Given the description of an element on the screen output the (x, y) to click on. 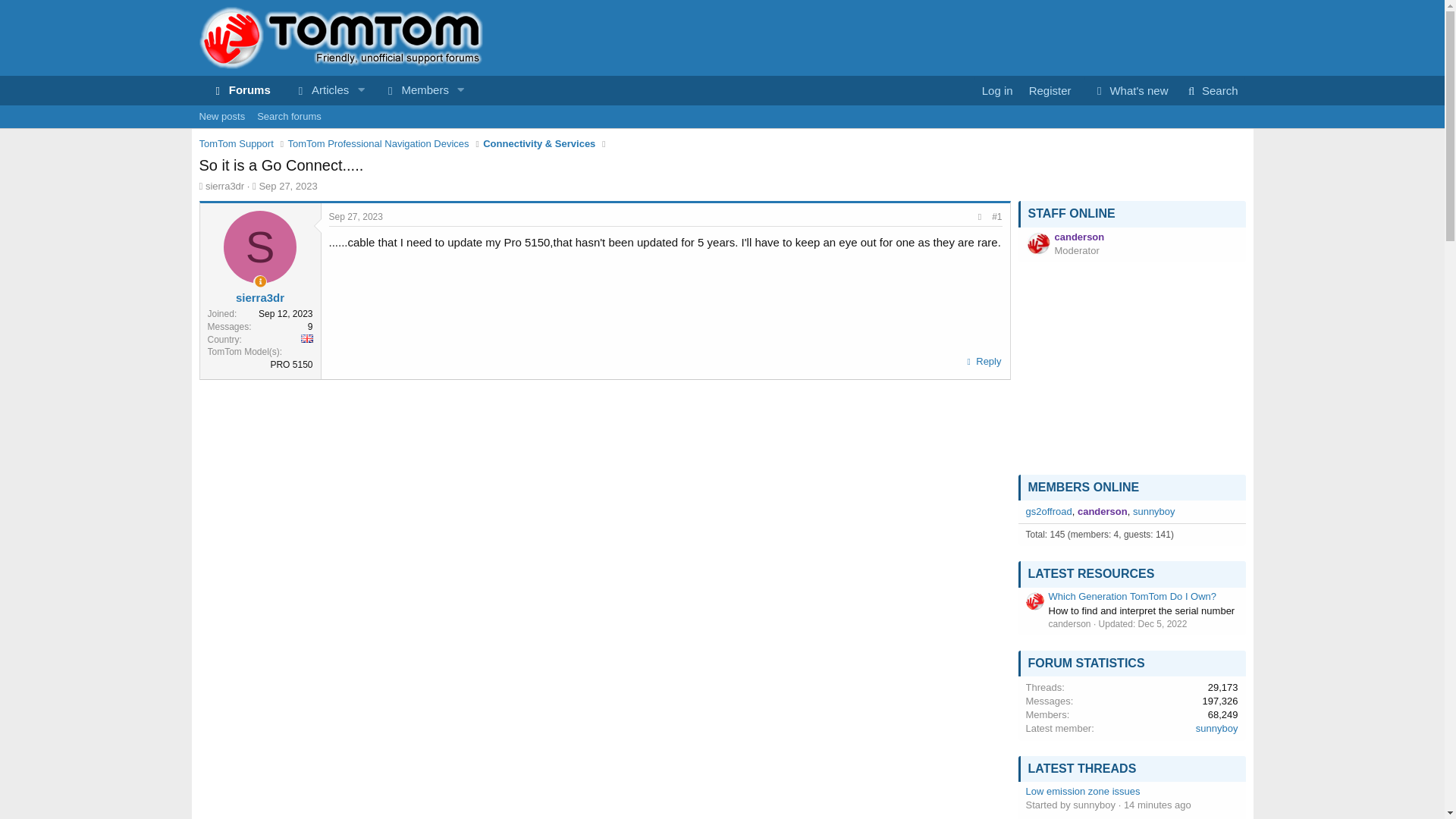
Thread Starter (334, 90)
Search (721, 116)
Articles (260, 281)
New posts (1209, 90)
Members (316, 90)
Reply, quoting this message (221, 116)
Sep 27, 2023 (410, 90)
Forums (982, 361)
